Given the description of an element on the screen output the (x, y) to click on. 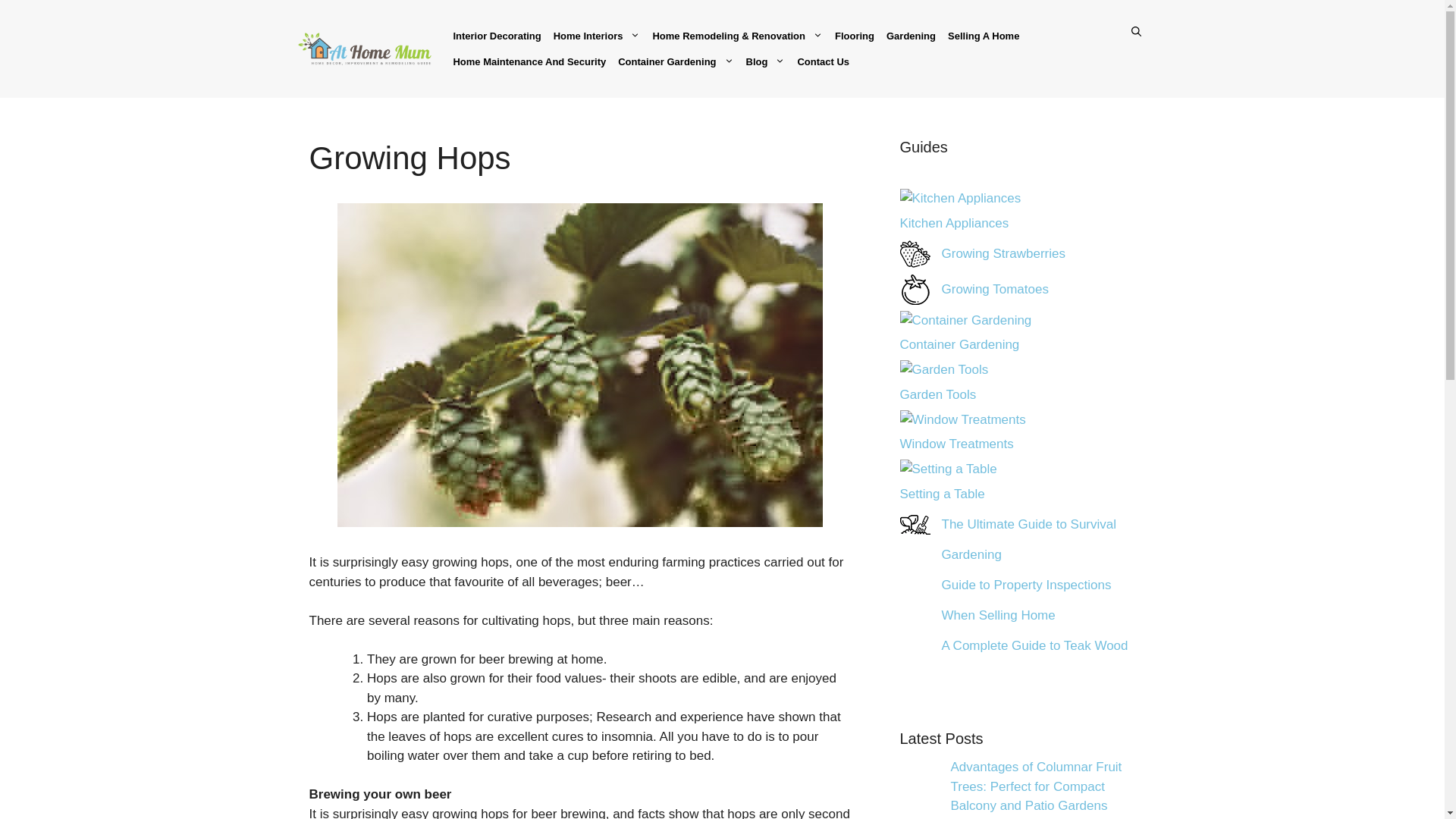
Flooring (854, 35)
Selling A Home (983, 35)
Guide to Property Inspections When Selling Home (914, 585)
Blog (765, 61)
The Ultimate Guide to Survival Gardening (914, 524)
Interior Decorating (496, 35)
Gardening (911, 35)
The Ultimate Guide to Survival Gardening (1029, 538)
Home Maintenance And Security (528, 61)
Home Interiors (596, 35)
A Complete Guide to Teak Wood (1035, 645)
Container Gardening (675, 61)
A Complete Guide to Teak Wood (914, 645)
Guide to Property Inspections When Selling Home (1027, 600)
